Given the description of an element on the screen output the (x, y) to click on. 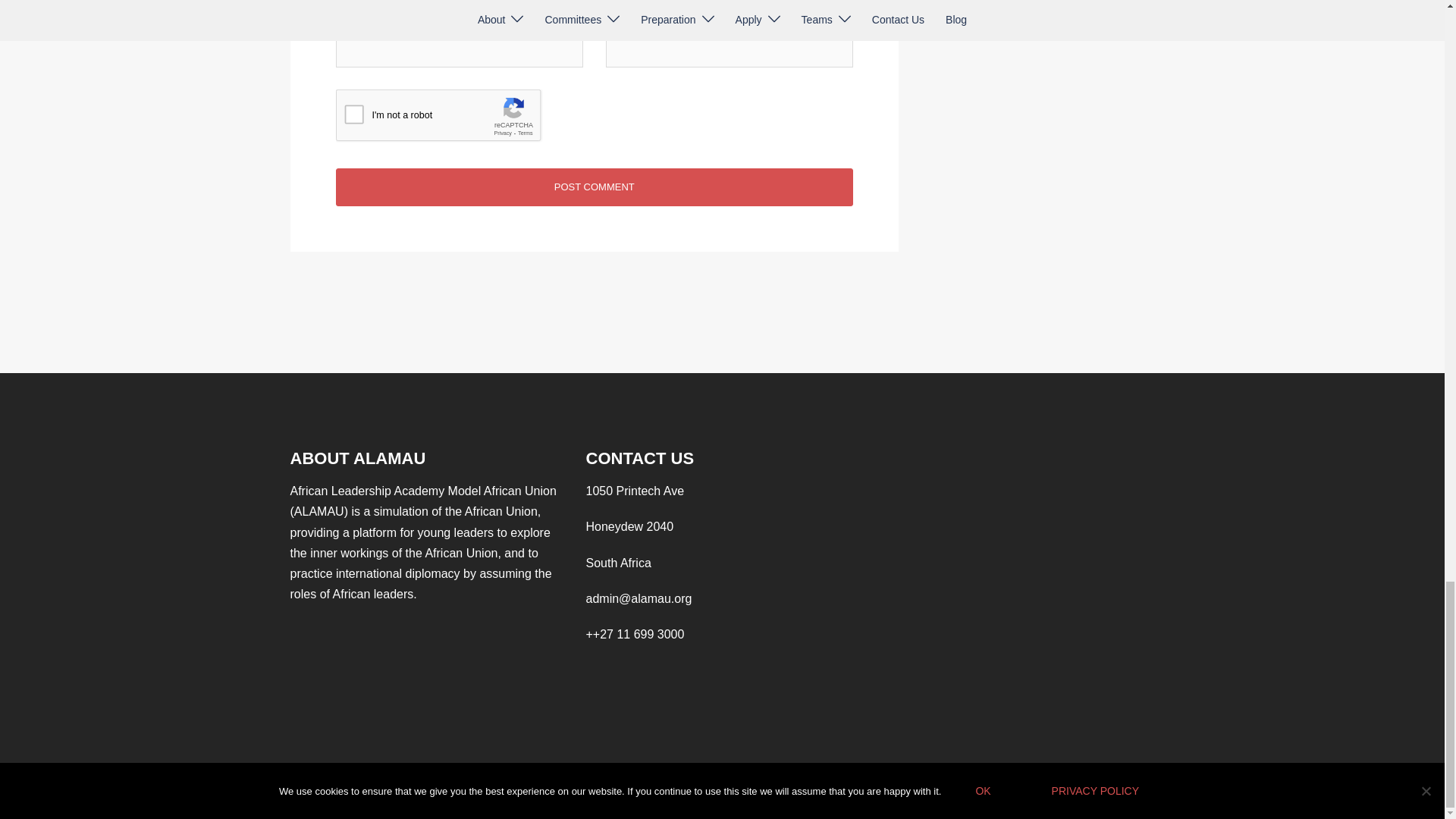
Post Comment (593, 187)
reCAPTCHA (450, 118)
